Given the description of an element on the screen output the (x, y) to click on. 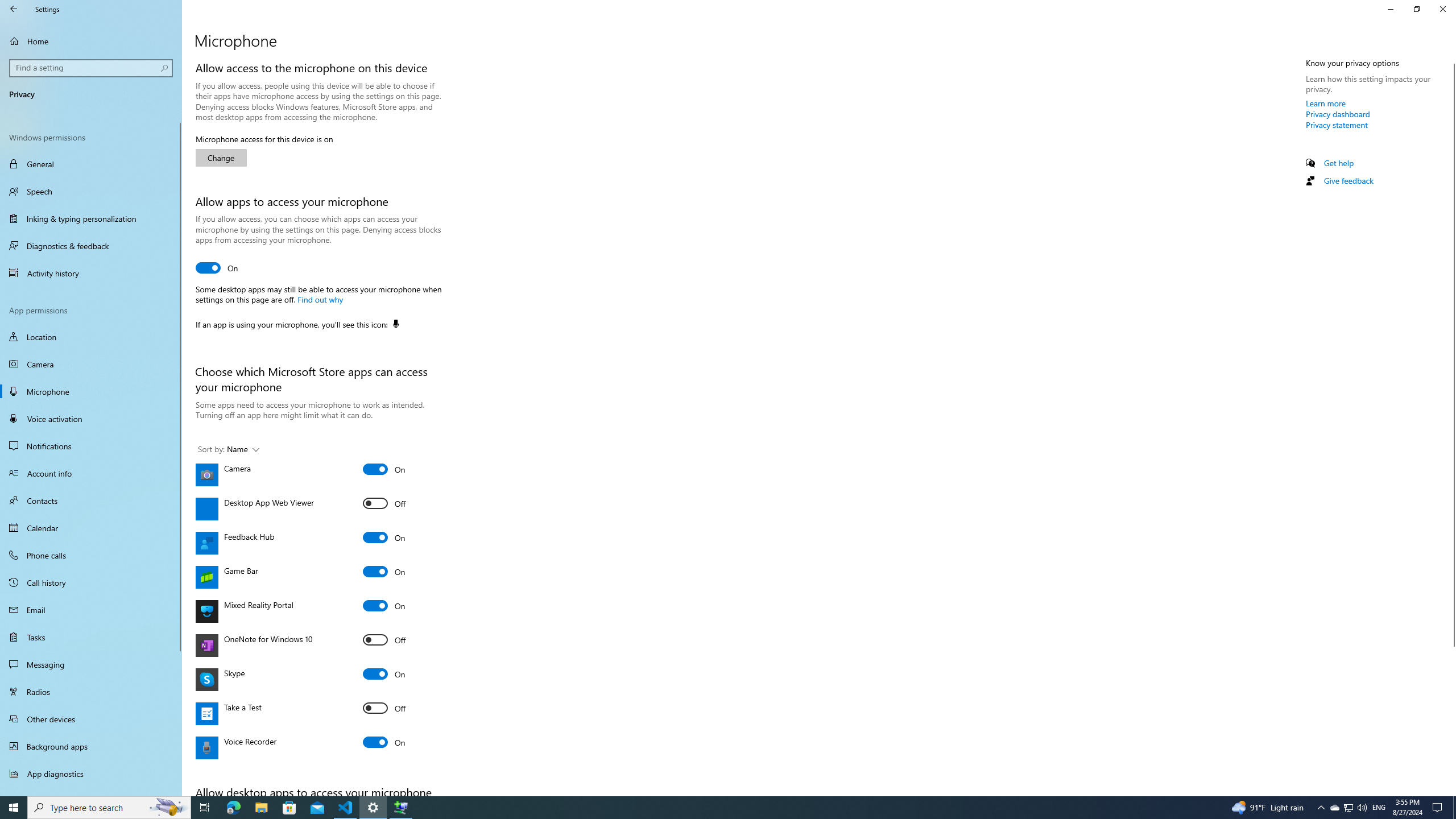
Contacts (91, 500)
Find out why (319, 299)
Desktop App Web Viewer (384, 502)
Skype (384, 674)
Microphone (91, 390)
Tasks (91, 636)
Camera (91, 363)
Learn more (1326, 102)
Running applications (706, 807)
